Given the description of an element on the screen output the (x, y) to click on. 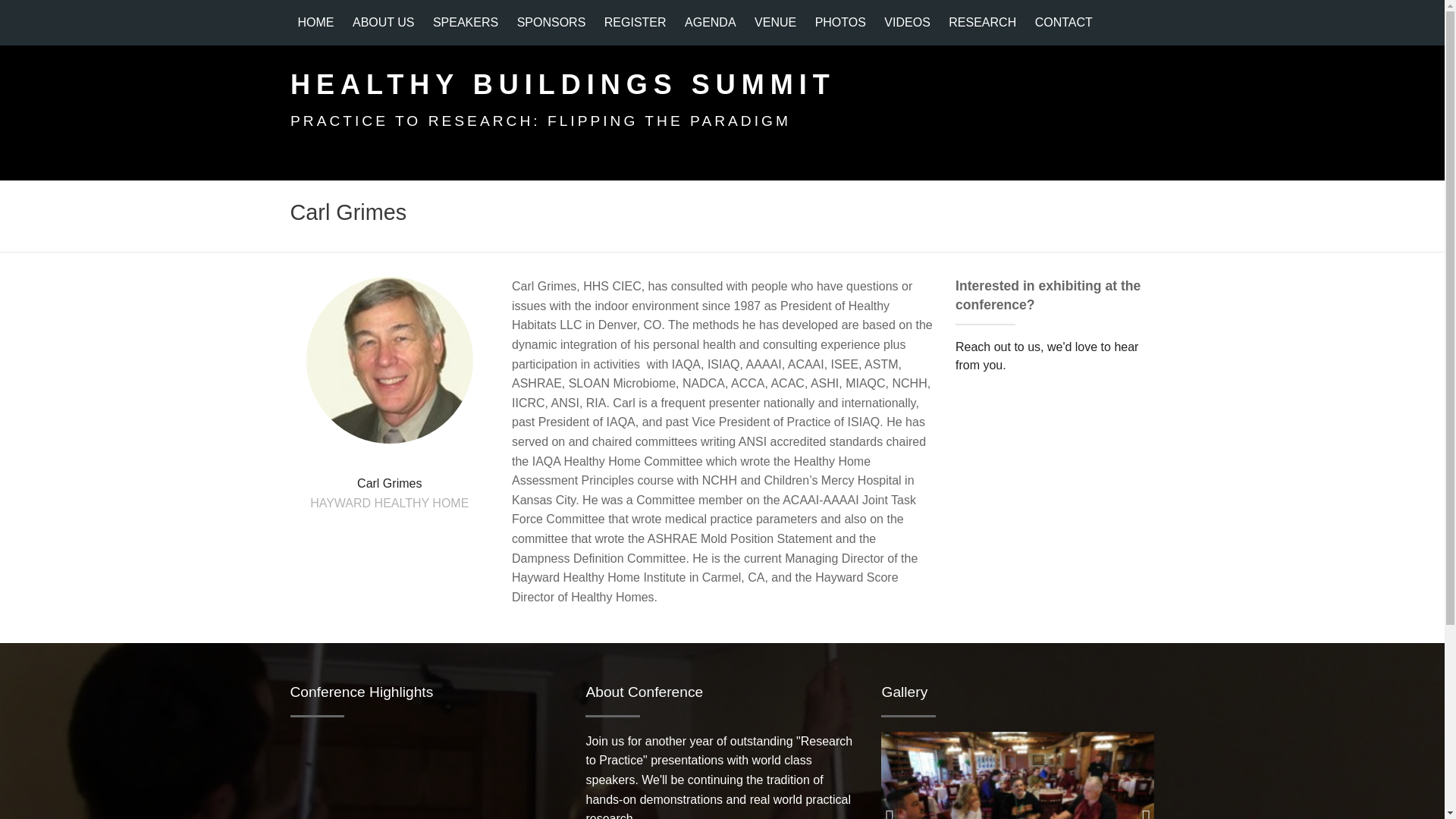
HAYWARD HEALTHY HOME (389, 502)
VENUE (774, 22)
SPEAKERS (465, 22)
HOME (314, 22)
Past Conference Photos (1017, 816)
RESEARCH (981, 22)
VIDEOS (906, 22)
ABOUT US (383, 22)
AGENDA (710, 22)
REGISTER (635, 22)
CONTACT (1063, 22)
SPONSORS (551, 22)
PHOTOS (840, 22)
